Given the description of an element on the screen output the (x, y) to click on. 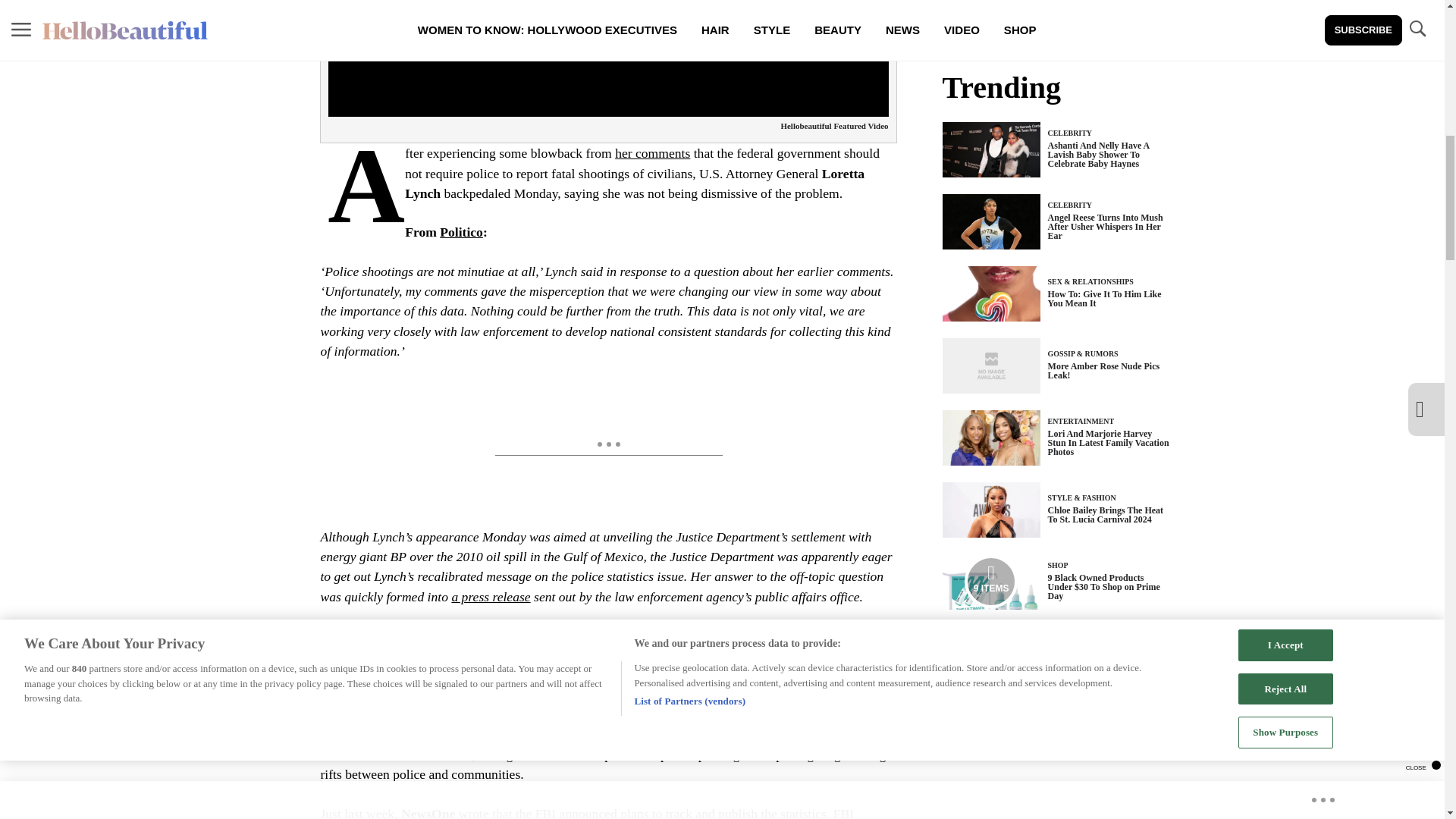
NewsOne (427, 812)
Media Playlist (990, 581)
Politico (461, 231)
a press release (490, 596)
her comments (652, 152)
